Given the description of an element on the screen output the (x, y) to click on. 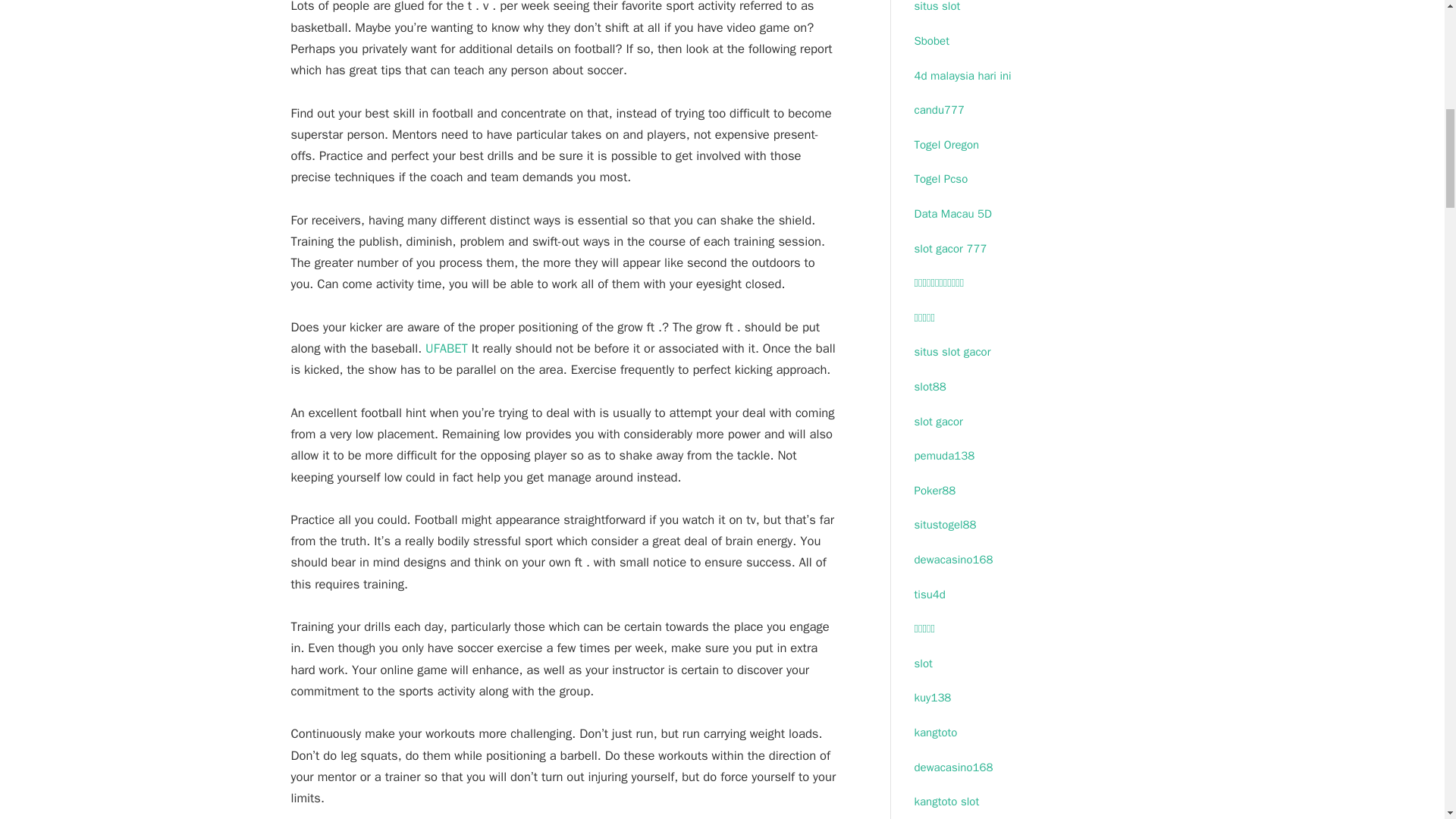
UFABET (446, 348)
